Given the description of an element on the screen output the (x, y) to click on. 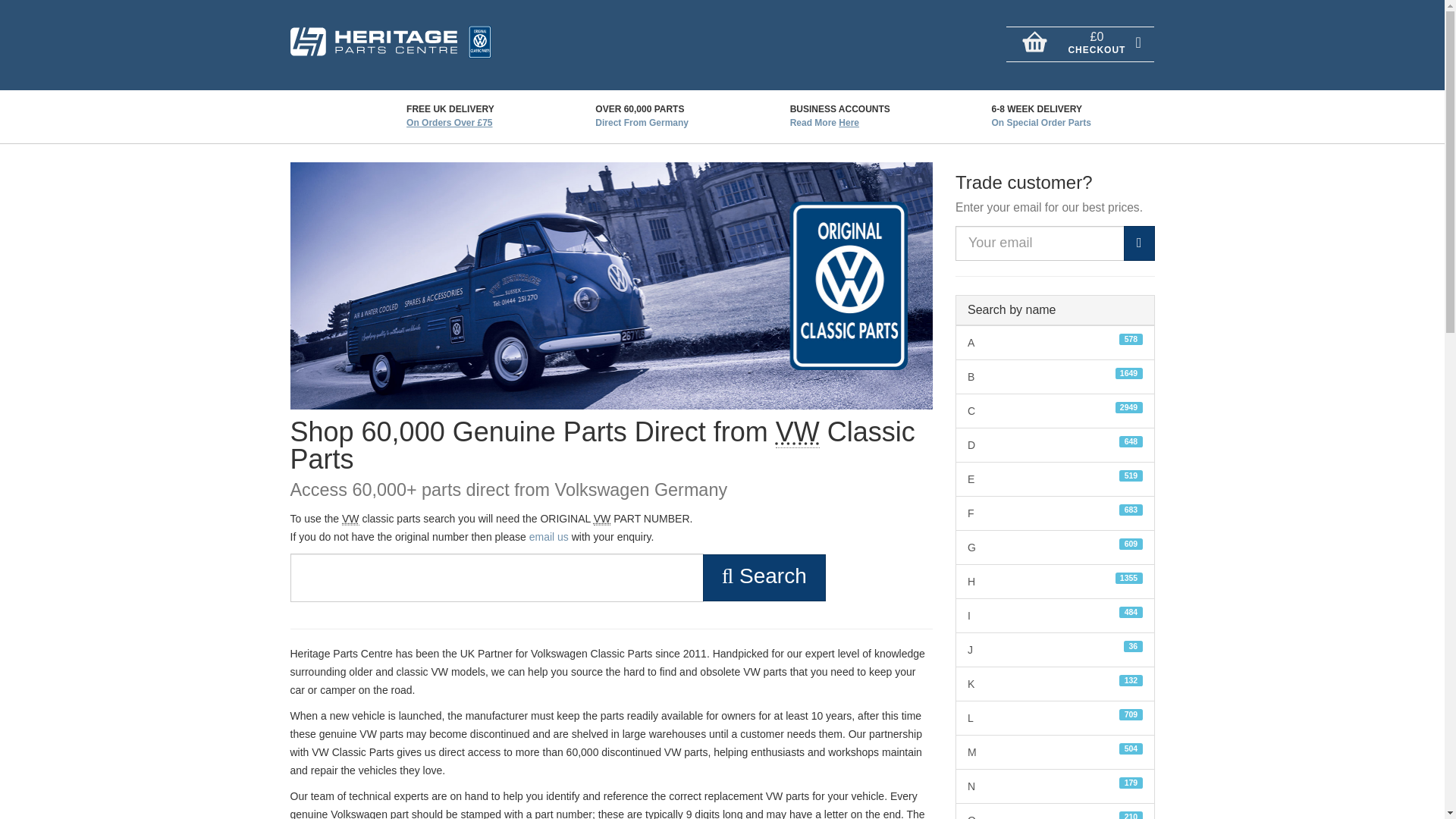
email us (549, 536)
Volkswagen (350, 518)
Volkswagen (602, 518)
checkEmail (1139, 243)
Here (1055, 342)
Search (848, 122)
Volkswagen (764, 577)
